Given the description of an element on the screen output the (x, y) to click on. 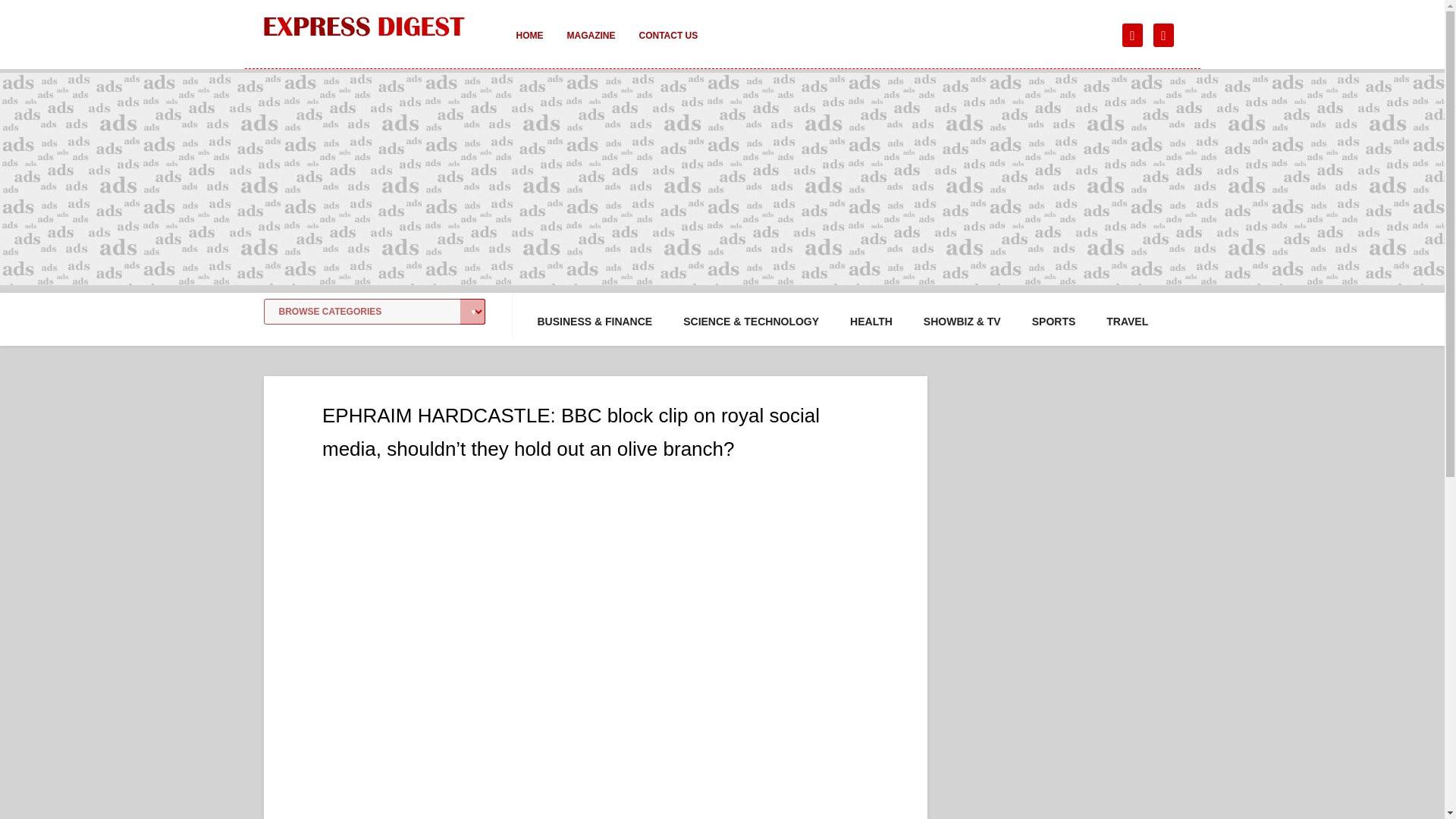
MAGAZINE (590, 45)
HEALTH (871, 321)
TRAVEL (1127, 321)
CONTACT US (667, 45)
SPORTS (1053, 321)
